Given the description of an element on the screen output the (x, y) to click on. 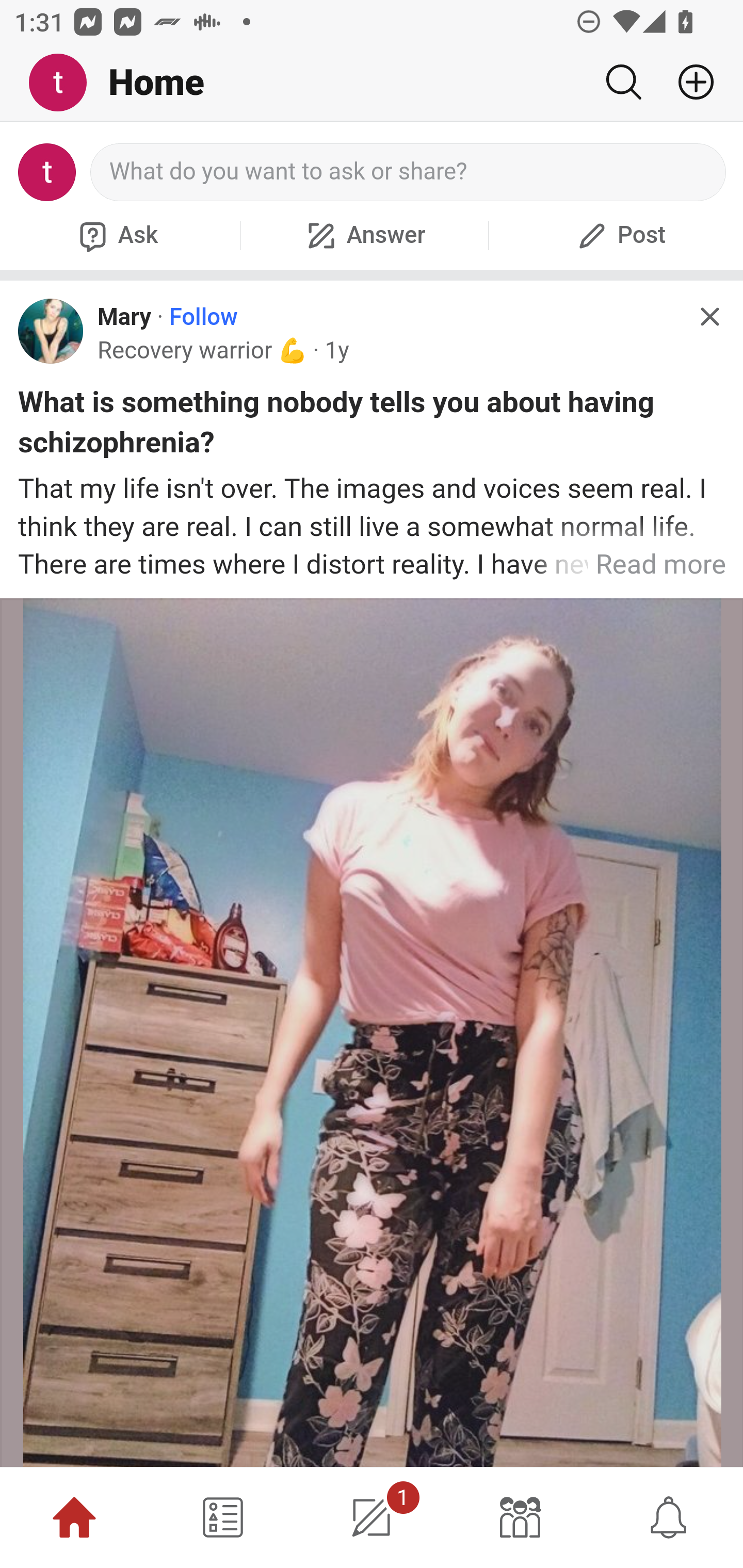
Me Home Search Add (371, 82)
Me (64, 83)
Search (623, 82)
Add (688, 82)
What do you want to ask or share? (408, 172)
Ask (116, 234)
Answer (364, 234)
Post (618, 234)
Hide (709, 316)
Profile photo for Mary (50, 330)
Mary (124, 316)
Follow (202, 316)
1y 1 y (336, 350)
1 (371, 1517)
